Given the description of an element on the screen output the (x, y) to click on. 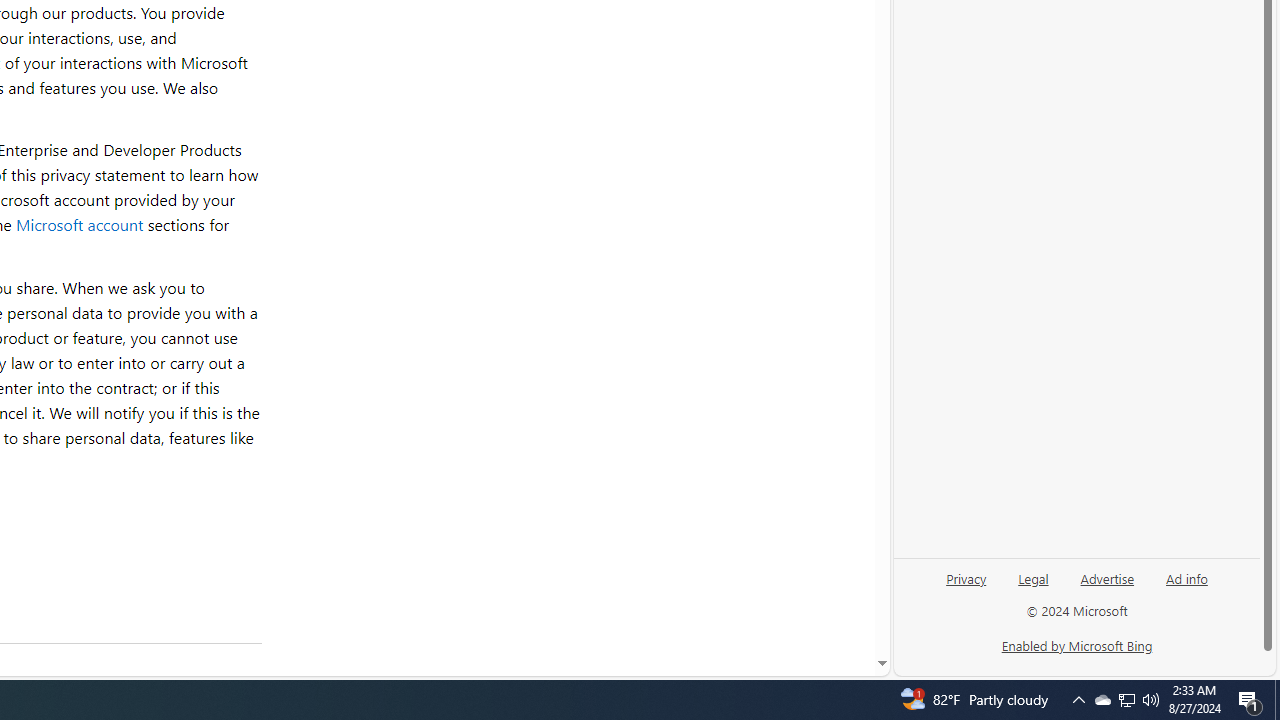
Microsoft account (79, 224)
